Given the description of an element on the screen output the (x, y) to click on. 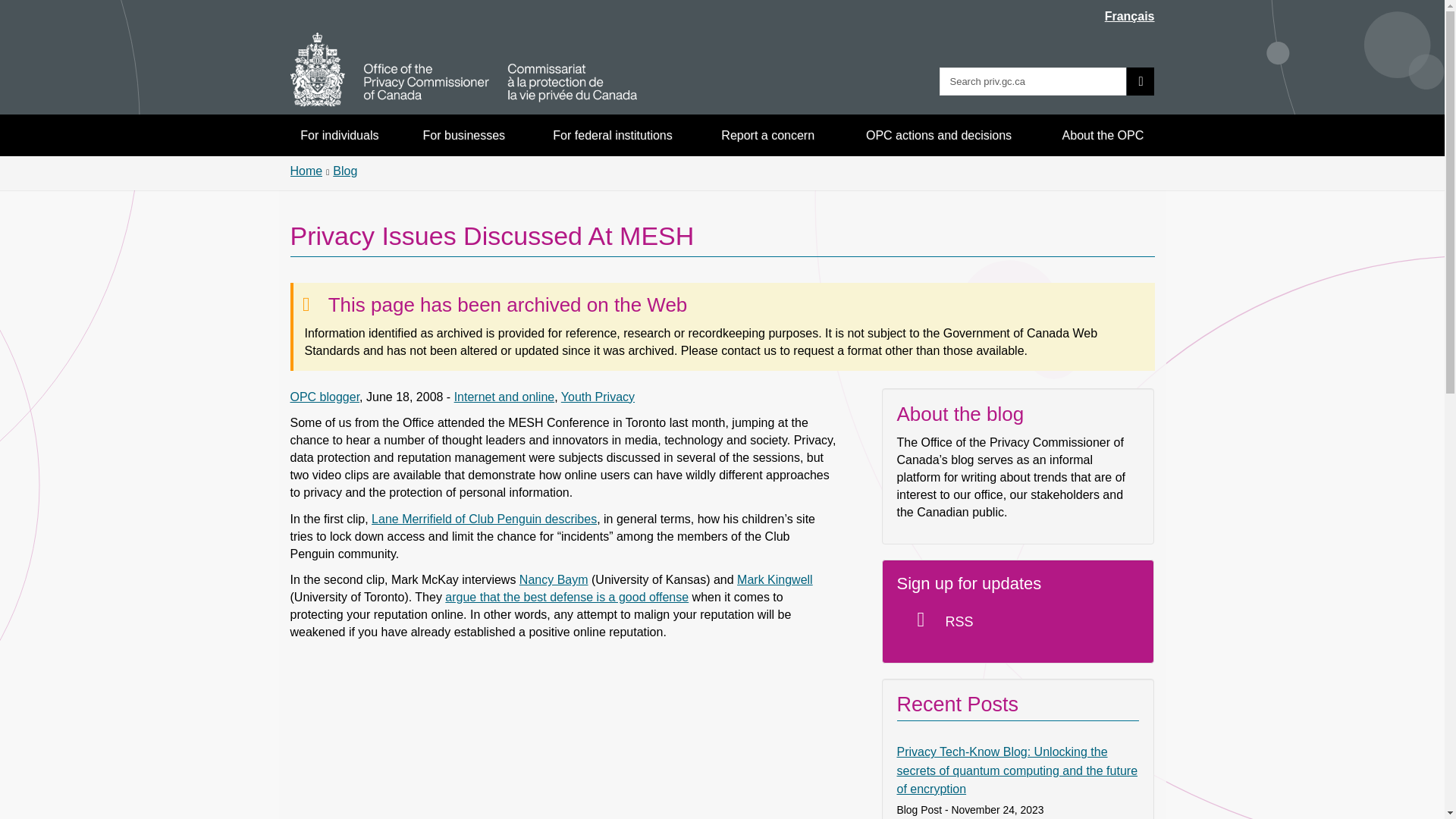
Skip to main content (725, 11)
Office of the Privacy Commissioner of Canada (463, 69)
Report a concern (768, 135)
For individuals (340, 135)
Search (1140, 81)
OPC actions and decisions (939, 135)
For federal institutions (612, 135)
For businesses (463, 135)
